Given the description of an element on the screen output the (x, y) to click on. 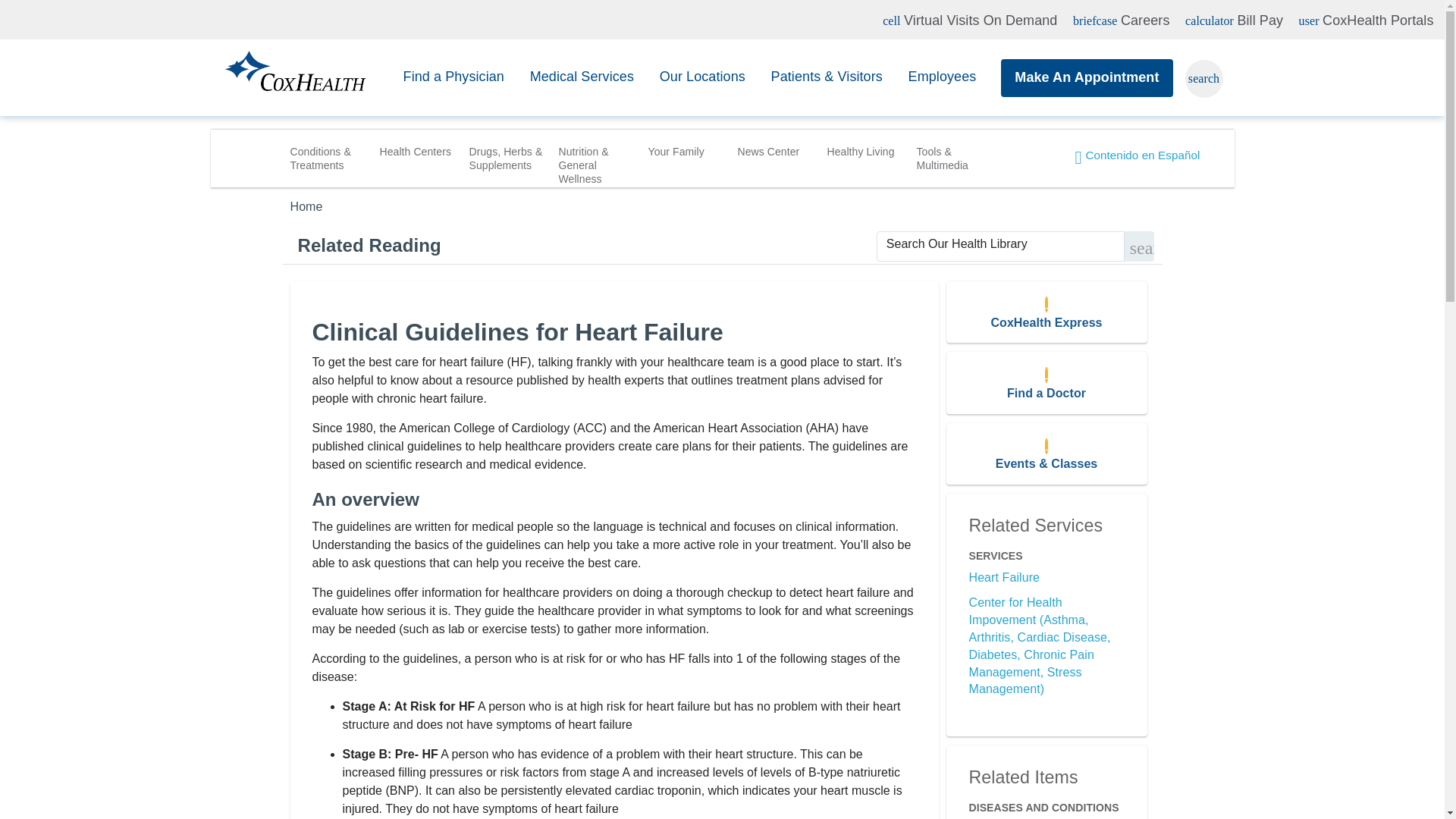
Find a Physician (581, 78)
